Given the description of an element on the screen output the (x, y) to click on. 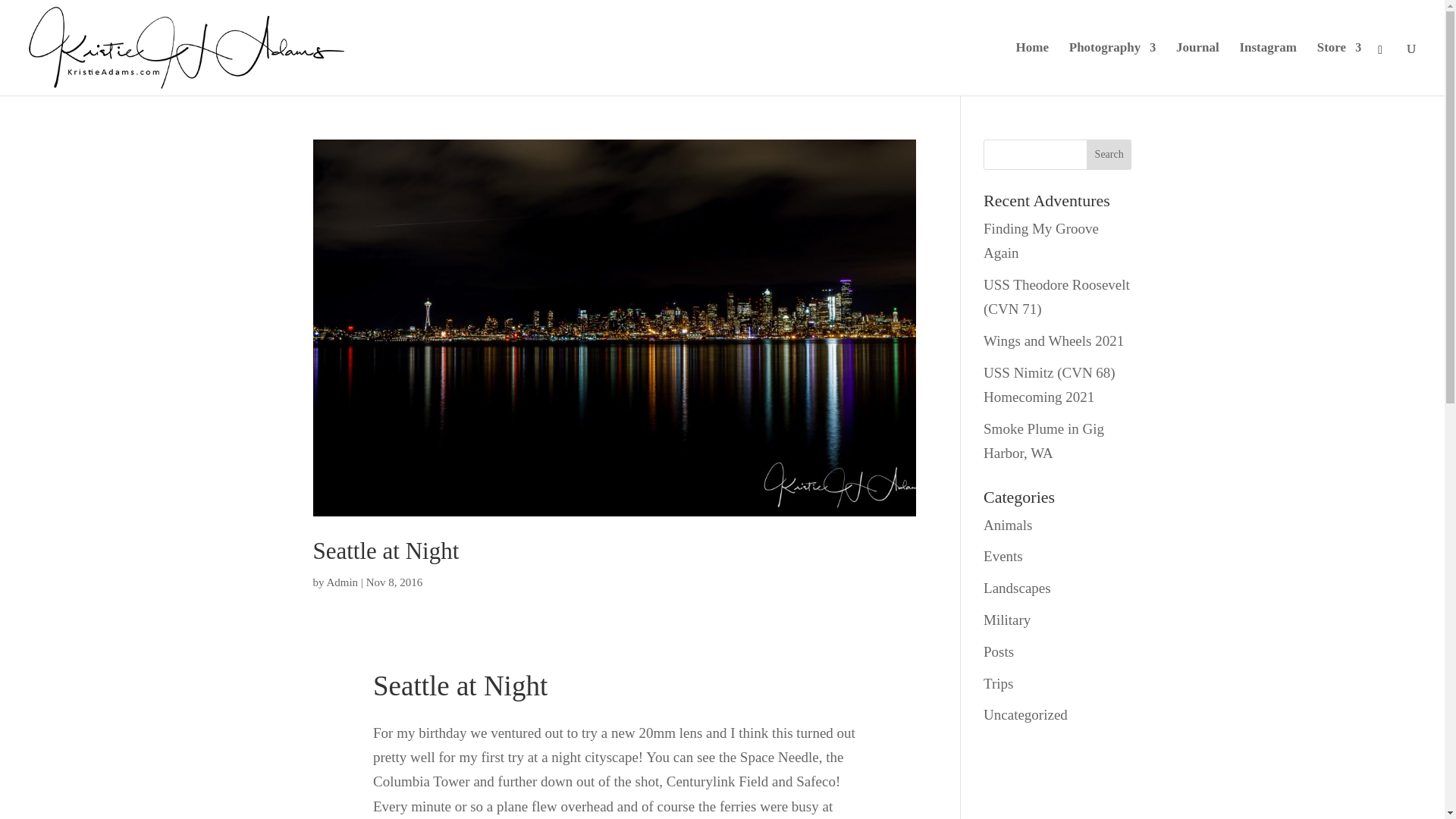
Home (1032, 68)
Smoke Plume in Gig Harbor, WA (1043, 440)
Photography (1112, 68)
Military (1007, 619)
Wings and Wheels 2021 (1054, 340)
Store (1339, 68)
Finding My Groove Again (1041, 240)
Uncategorized (1025, 714)
Trips (998, 683)
Events (1003, 555)
Animals (1008, 524)
Search (1109, 154)
Journal (1198, 68)
Admin (342, 582)
Posts by Admin (342, 582)
